Given the description of an element on the screen output the (x, y) to click on. 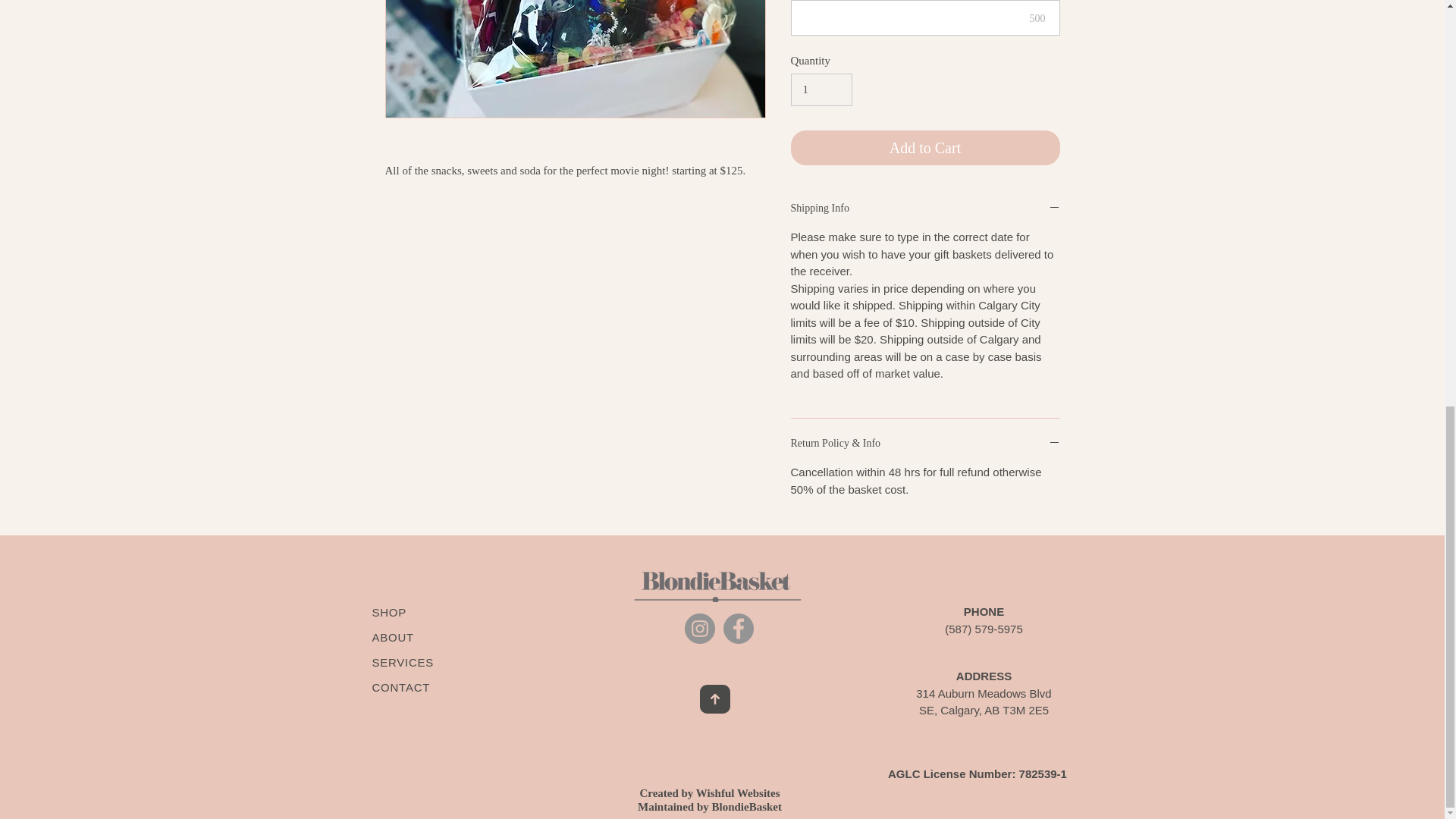
SERVICES (402, 662)
CONTACT (400, 686)
Shipping Info (924, 208)
SHOP (388, 612)
ABOUT  (393, 649)
1 (820, 90)
Add to Cart (924, 147)
PHONE (983, 611)
Created by Wishful Websites (708, 793)
